Given the description of an element on the screen output the (x, y) to click on. 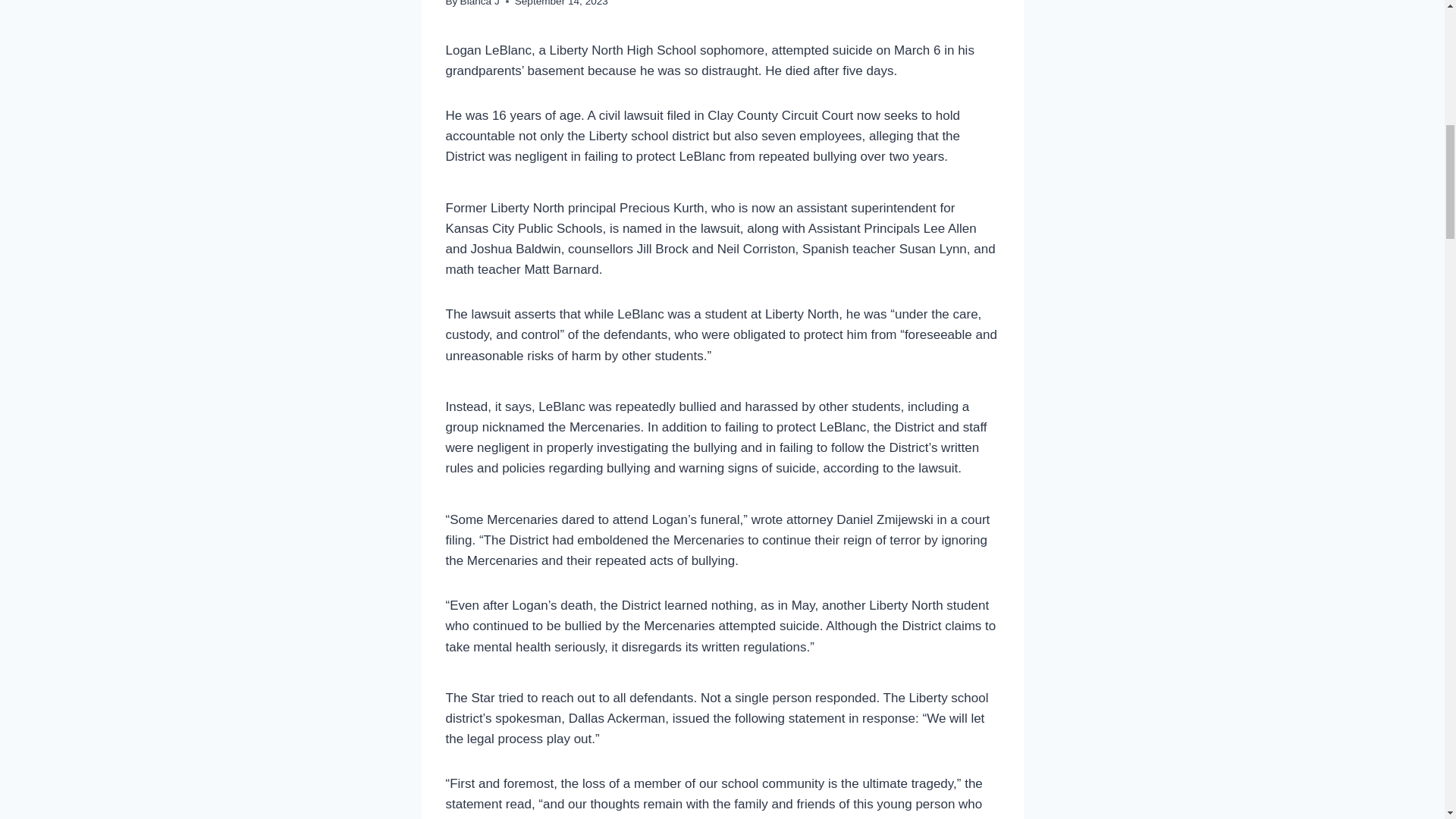
Bianca J (479, 3)
